Given the description of an element on the screen output the (x, y) to click on. 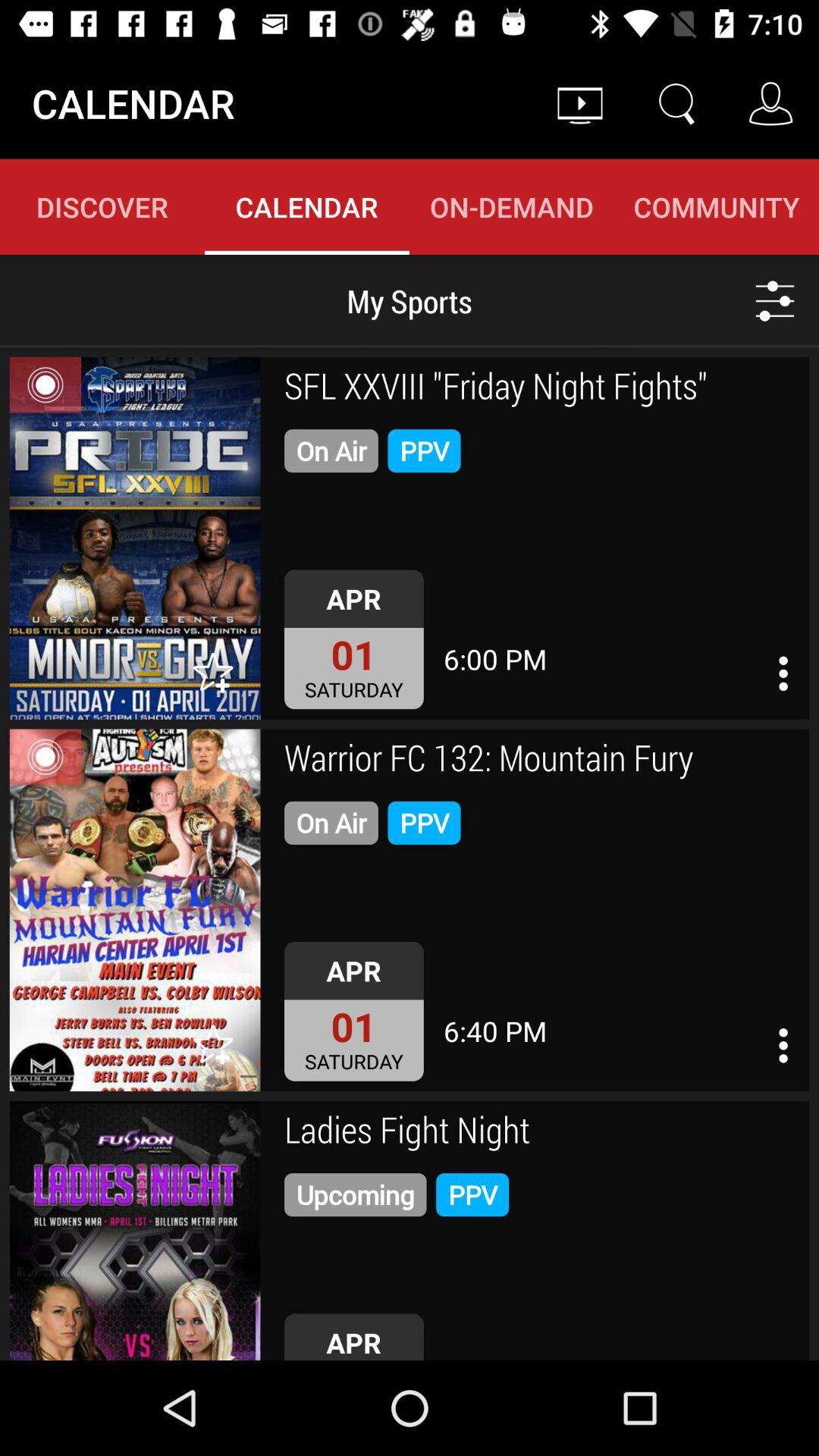
turn off app above the on air (541, 388)
